Given the description of an element on the screen output the (x, y) to click on. 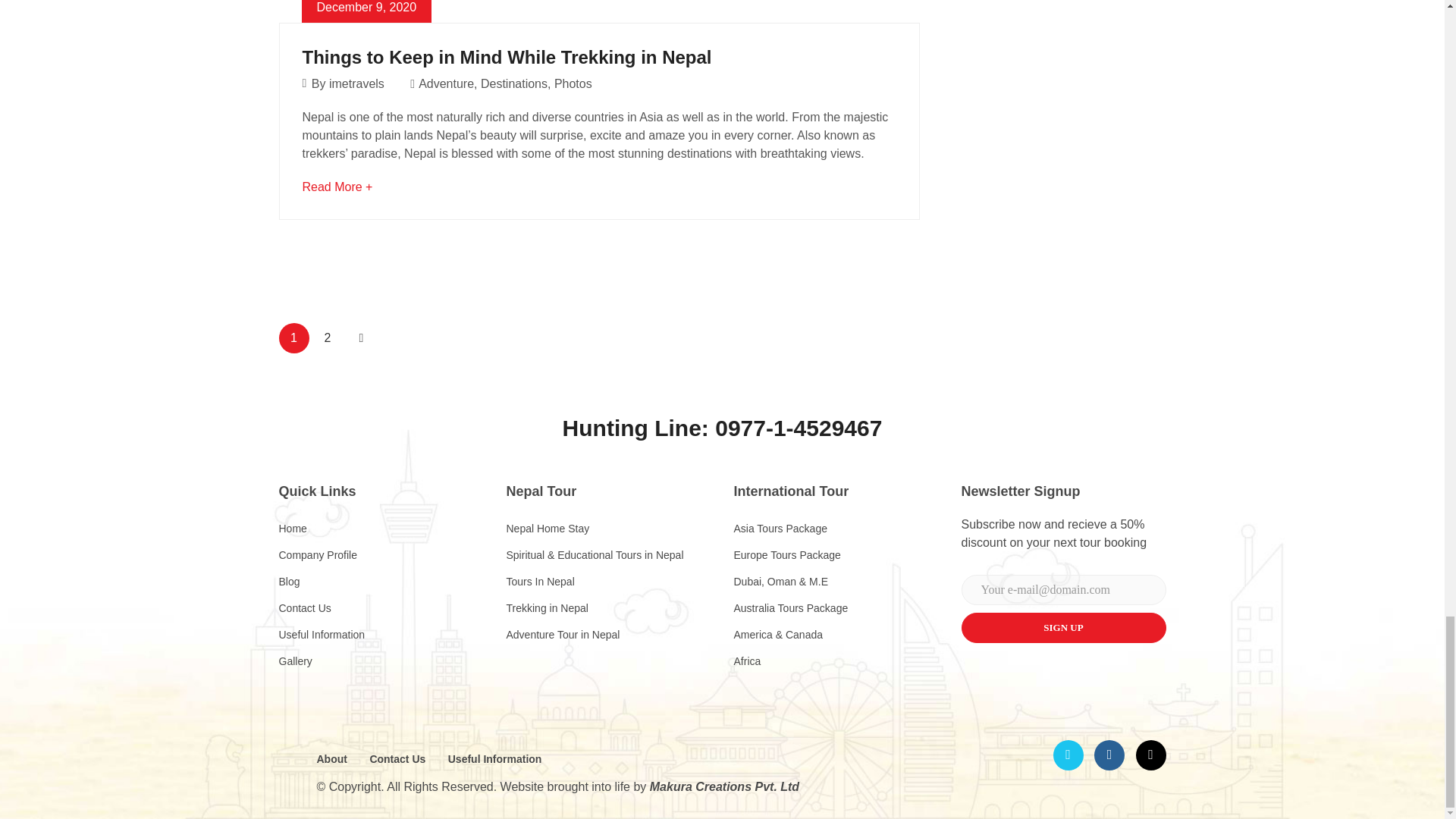
Posts by imetravels (356, 83)
